Given the description of an element on the screen output the (x, y) to click on. 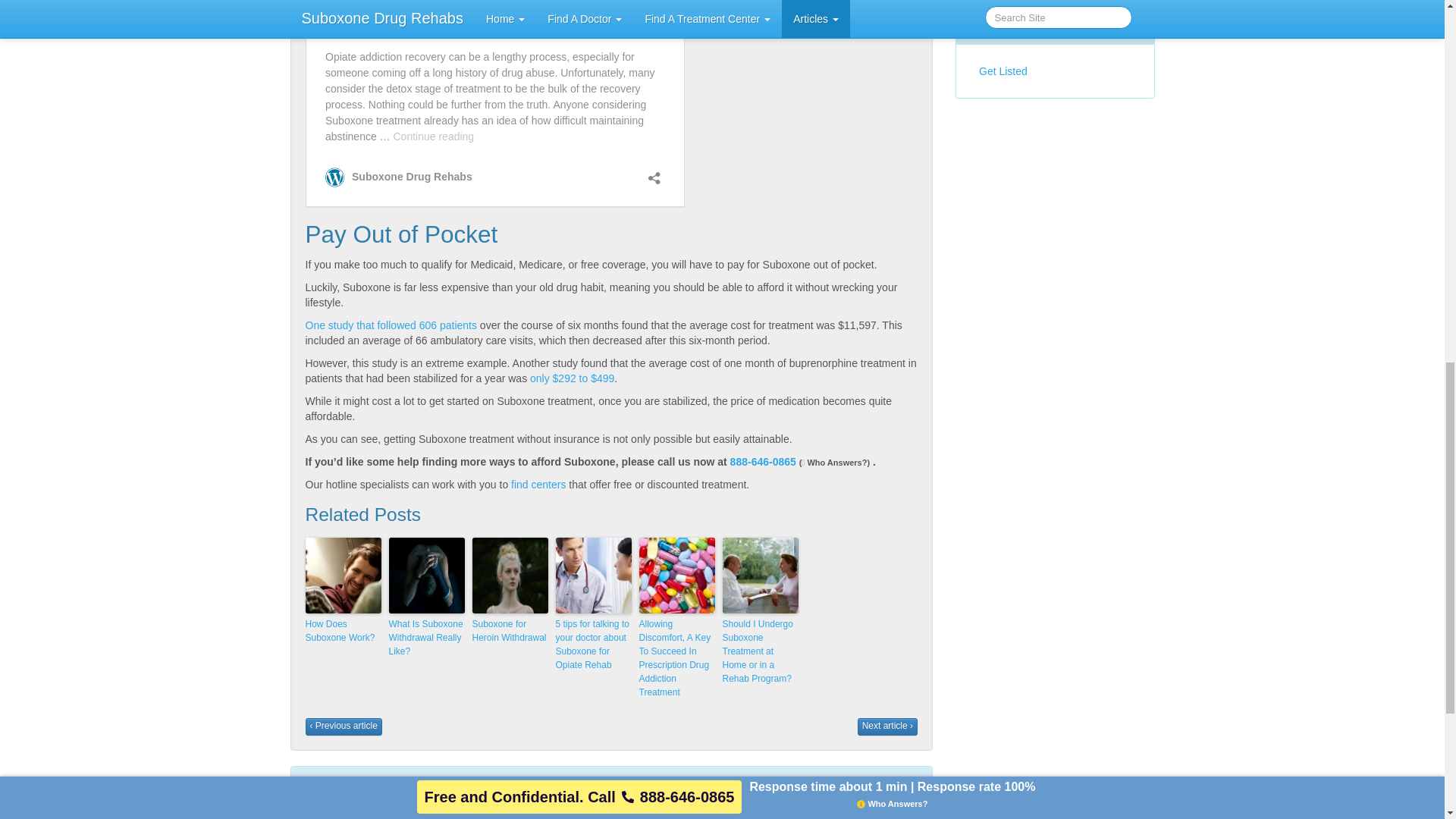
Browse Doctors (362, 814)
How Does Suboxone Work? (342, 630)
Browse Treatment Centers (567, 814)
Call Today 888-646-0865 (799, 814)
Suboxone for Heroin Withdrawal (509, 630)
find centers (538, 484)
888-646-0865 (763, 461)
What Is Suboxone Withdrawal Really Like? (426, 637)
One study that followed 606 patients (390, 325)
